Given the description of an element on the screen output the (x, y) to click on. 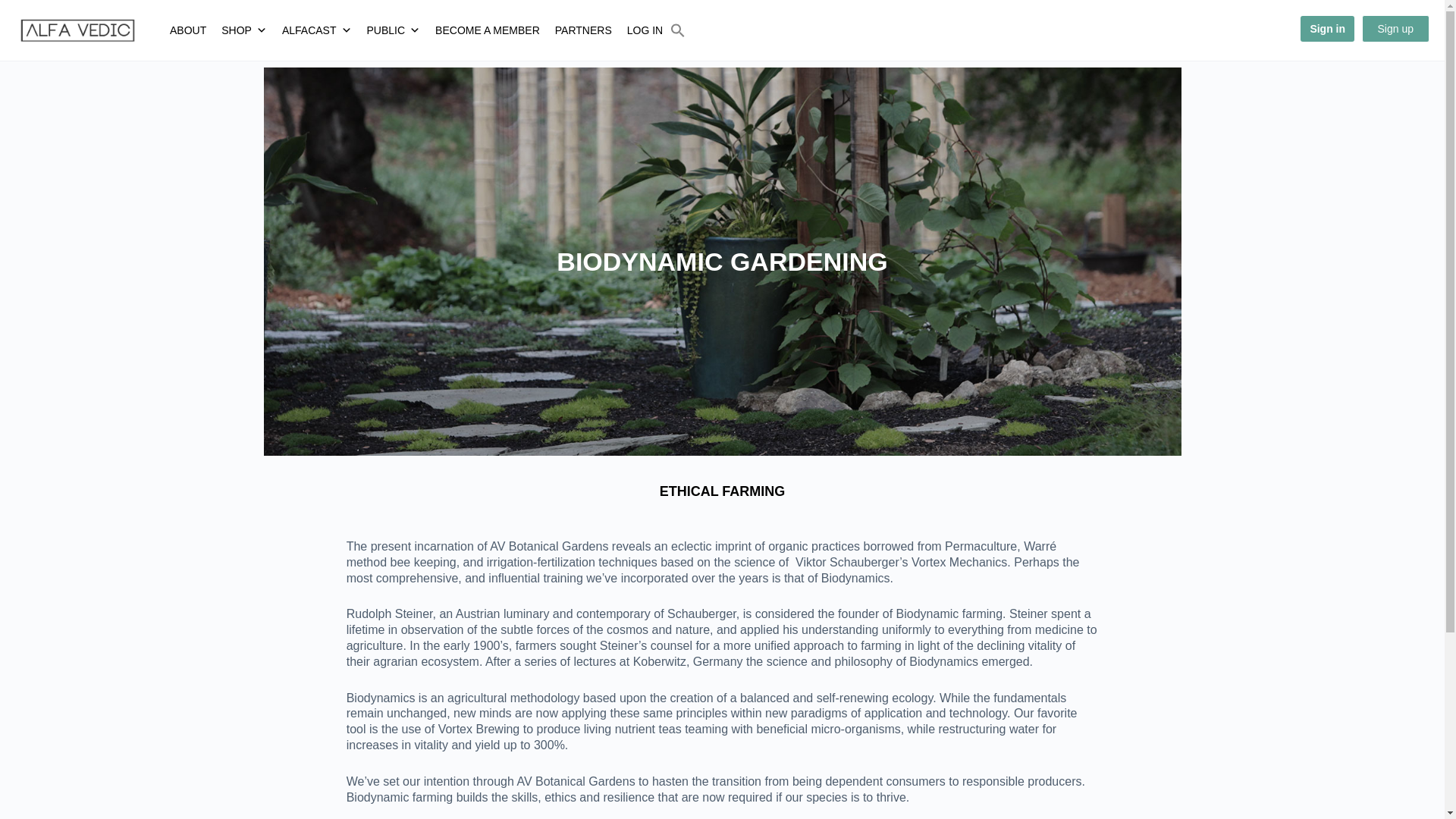
SHOP (244, 30)
ABOUT (187, 30)
